Given the description of an element on the screen output the (x, y) to click on. 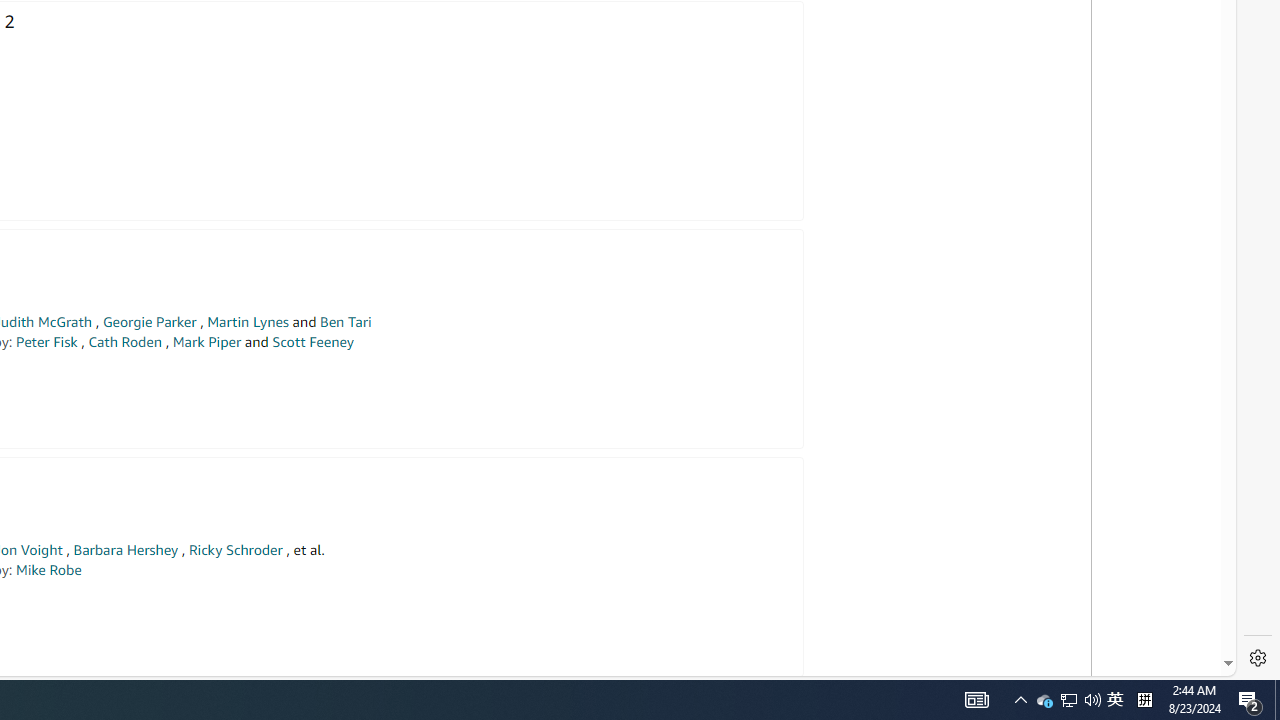
Peter Fisk (46, 342)
Mike Robe (48, 570)
Georgie Parker (149, 322)
Cath Roden (125, 342)
Barbara Hershey (125, 550)
Ben Tari (346, 322)
Ricky Schroder (235, 550)
Martin Lynes (248, 322)
Mark Piper (206, 342)
Scott Feeney (312, 342)
